Given the description of an element on the screen output the (x, y) to click on. 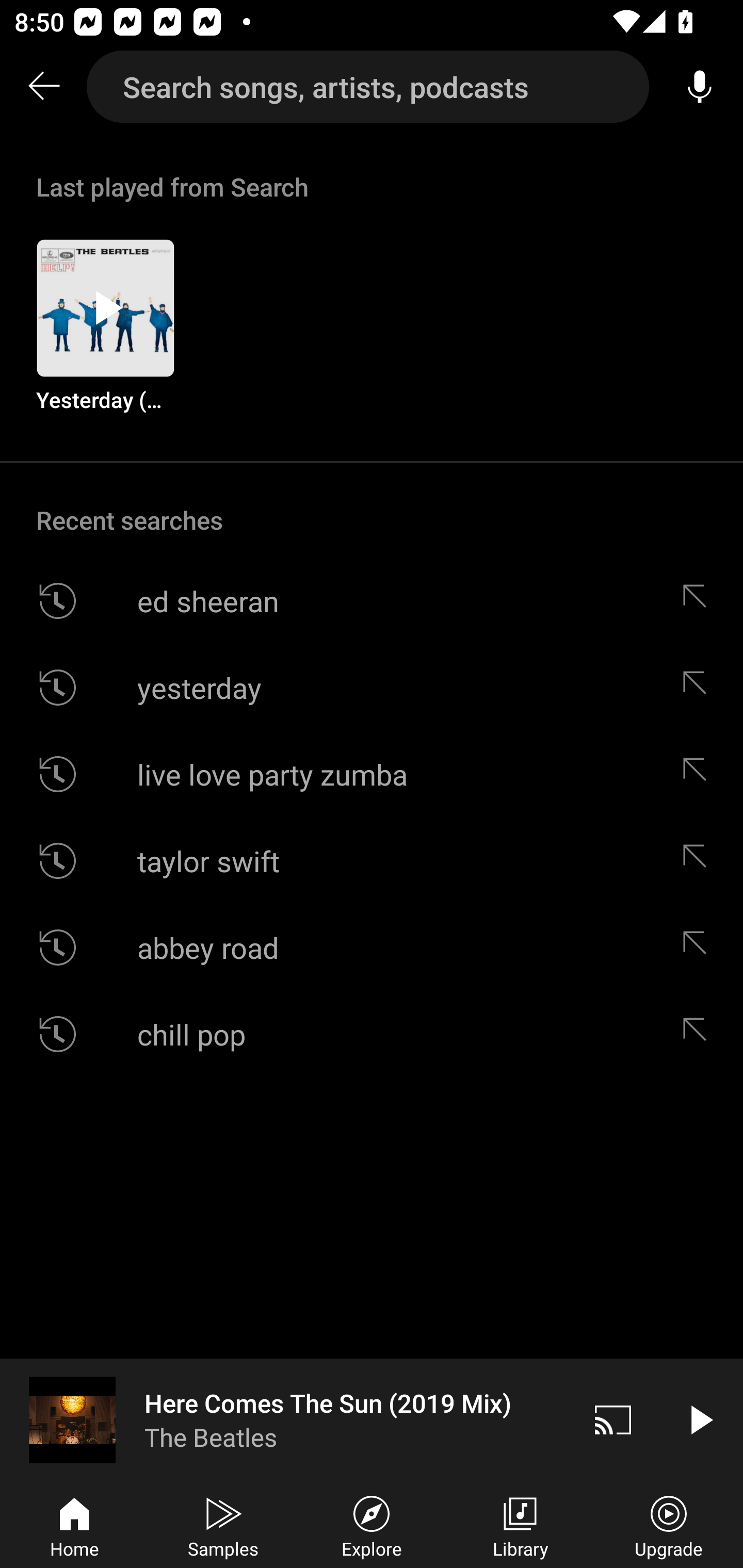
Search back (43, 86)
Search songs, artists, podcasts (367, 86)
Voice search (699, 86)
ed sheeran Edit suggestion ed sheeran (371, 601)
Edit suggestion ed sheeran (699, 601)
yesterday Edit suggestion yesterday (371, 687)
Edit suggestion yesterday (699, 687)
Edit suggestion live love party zumba (699, 773)
taylor swift Edit suggestion taylor swift (371, 860)
Edit suggestion taylor swift (699, 860)
abbey road Edit suggestion abbey road (371, 947)
Edit suggestion abbey road (699, 947)
chill pop Edit suggestion chill pop (371, 1033)
Edit suggestion chill pop (699, 1033)
Here Comes The Sun (2019 Mix) The Beatles (284, 1419)
Cast. Disconnected (612, 1419)
Play video (699, 1419)
Home (74, 1524)
Samples (222, 1524)
Explore (371, 1524)
Library (519, 1524)
Upgrade (668, 1524)
